Given the description of an element on the screen output the (x, y) to click on. 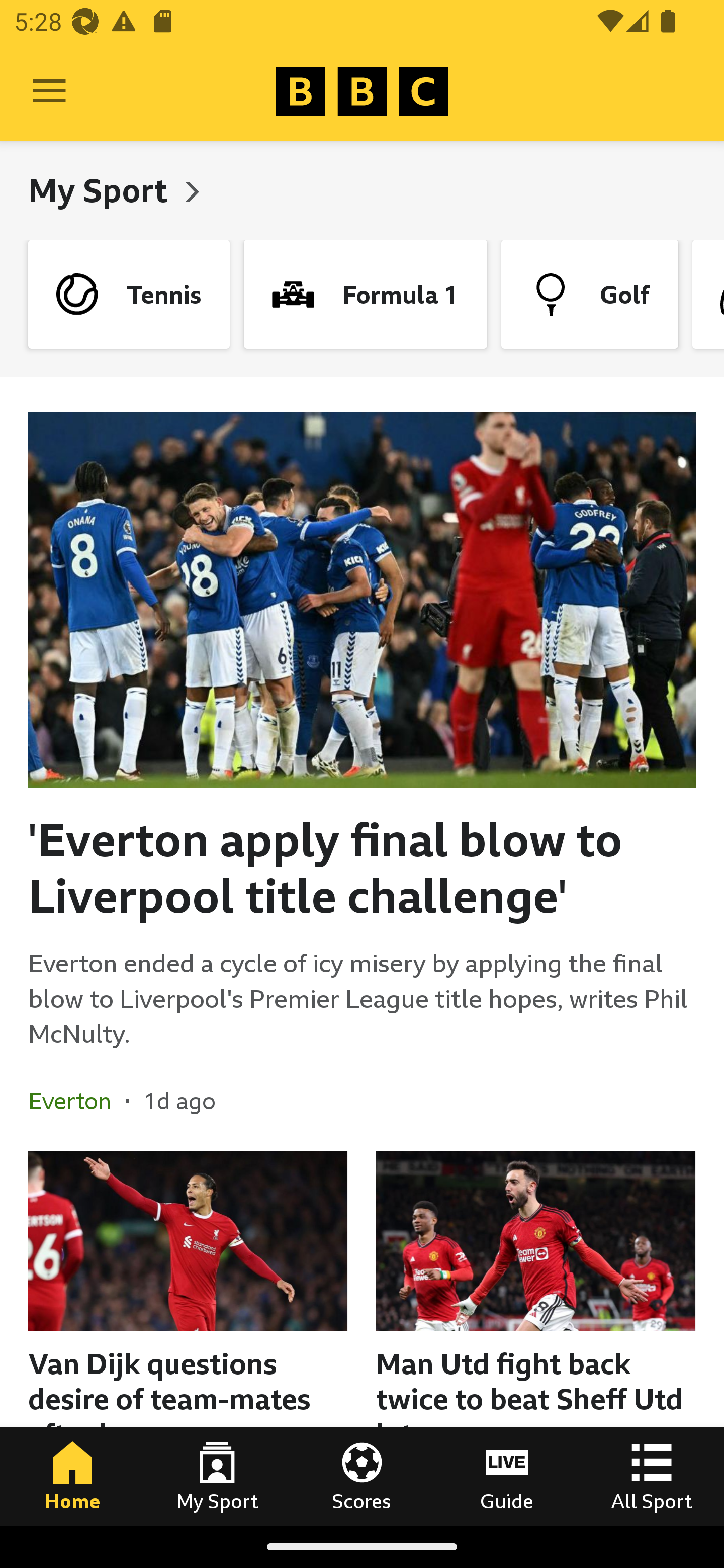
Open Menu (49, 91)
My Sport (101, 190)
Everton In the section Everton (76, 1100)
My Sport (216, 1475)
Scores (361, 1475)
Guide (506, 1475)
All Sport (651, 1475)
